Given the description of an element on the screen output the (x, y) to click on. 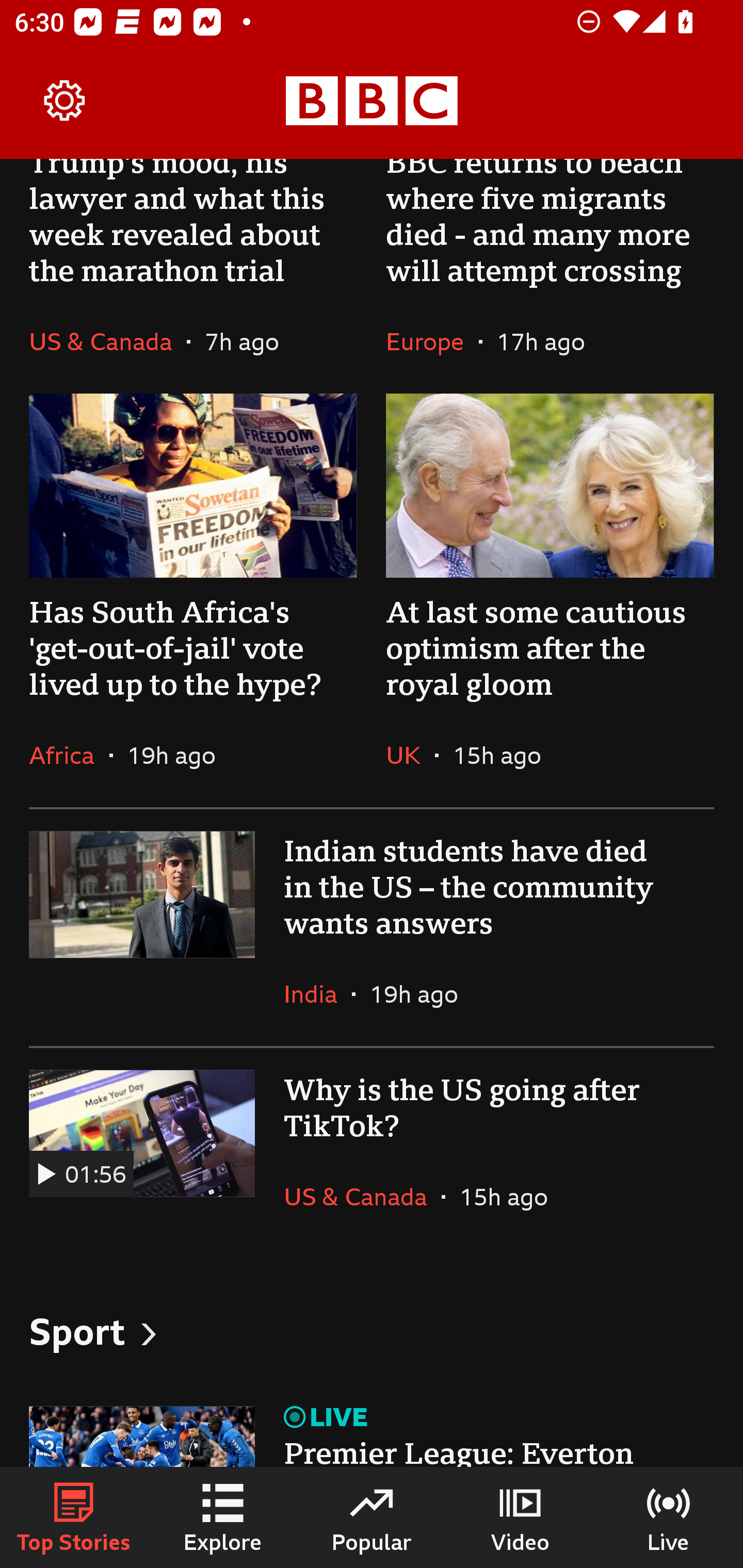
Settings (64, 100)
US & Canada In the section US & Canada (107, 341)
Europe In the section Europe (431, 341)
Africa In the section Africa (68, 754)
UK In the section UK (409, 754)
India In the section India (317, 993)
US & Canada In the section US & Canada (362, 1196)
Sport, Heading Sport    (371, 1330)
Explore (222, 1517)
Popular (371, 1517)
Video (519, 1517)
Live (668, 1517)
